Given the description of an element on the screen output the (x, y) to click on. 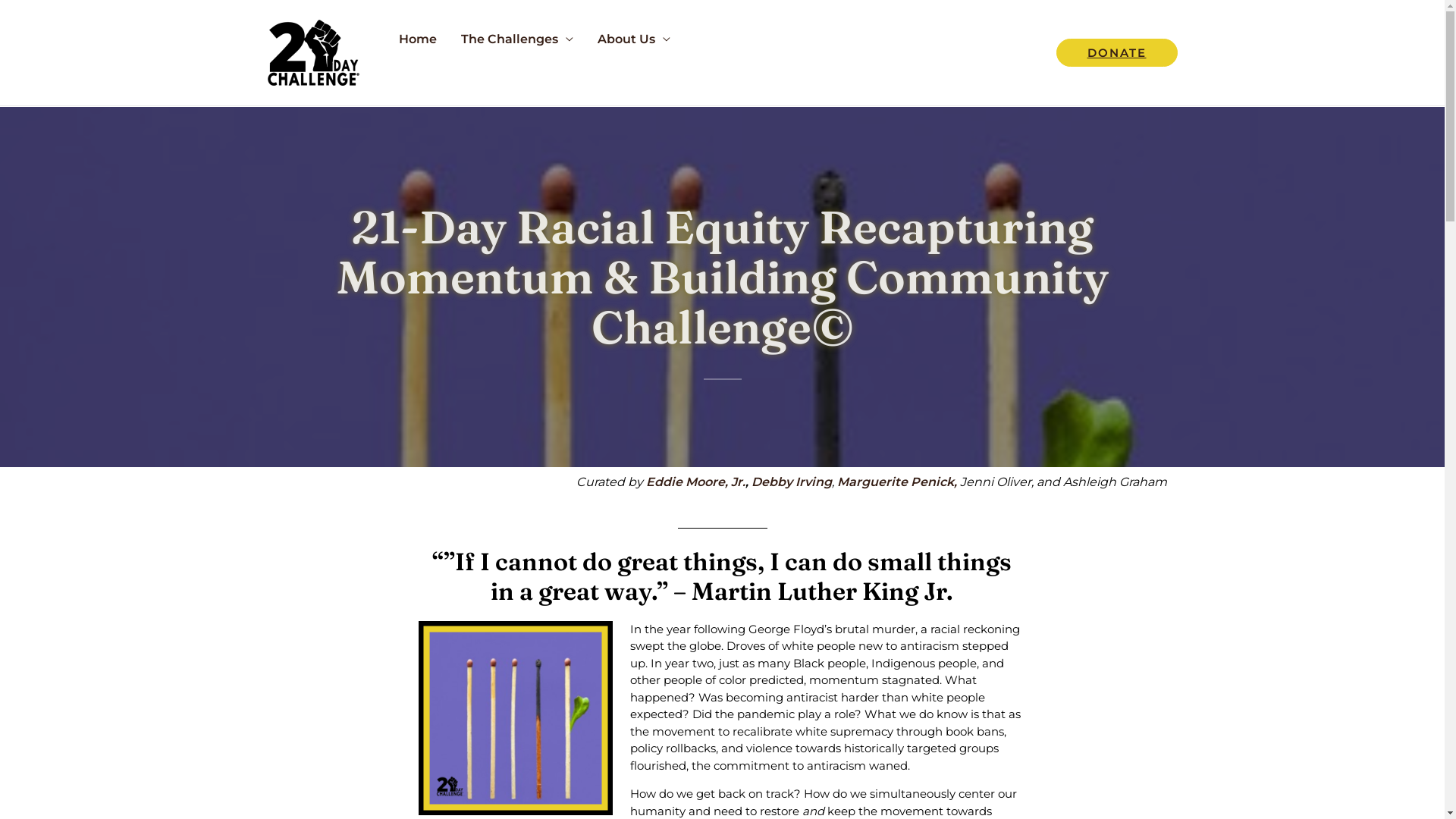
About Us Element type: text (633, 38)
DONATE Element type: text (1115, 52)
Eddie Moore, Jr. Element type: text (695, 481)
The Challenges Element type: text (516, 38)
Marguerite Penick, Element type: text (897, 481)
Home Element type: text (417, 38)
Debby Irving Element type: text (790, 481)
